Given the description of an element on the screen output the (x, y) to click on. 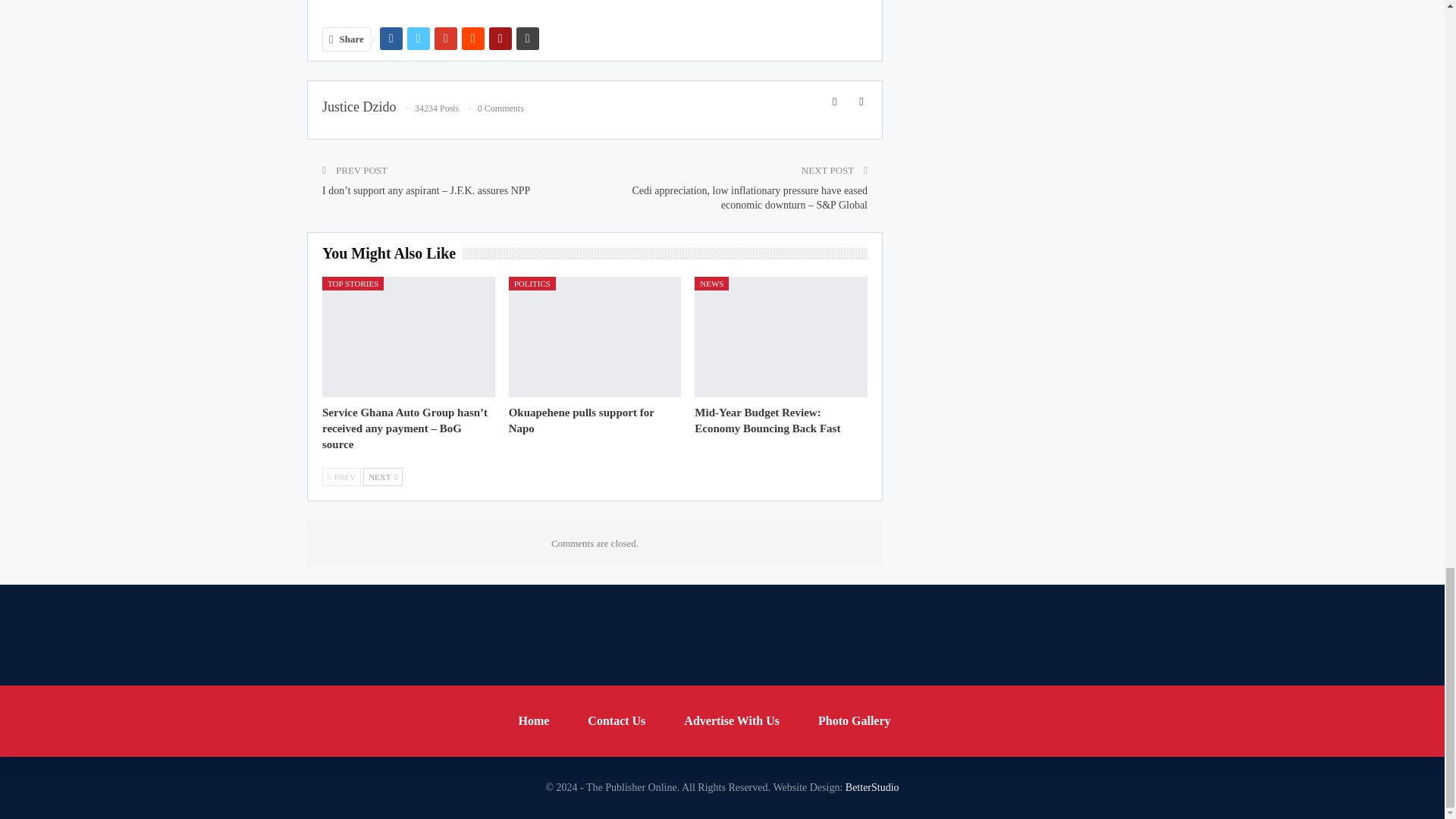
Previous (341, 476)
Okuapehene pulls support for Napo (580, 420)
Mid-Year Budget Review: Economy Bouncing Back Fast (767, 420)
Justice Dzido (358, 106)
Next (382, 476)
Mid-Year Budget Review: Economy Bouncing Back Fast (780, 336)
Okuapehene pulls support for Napo (594, 336)
